Given the description of an element on the screen output the (x, y) to click on. 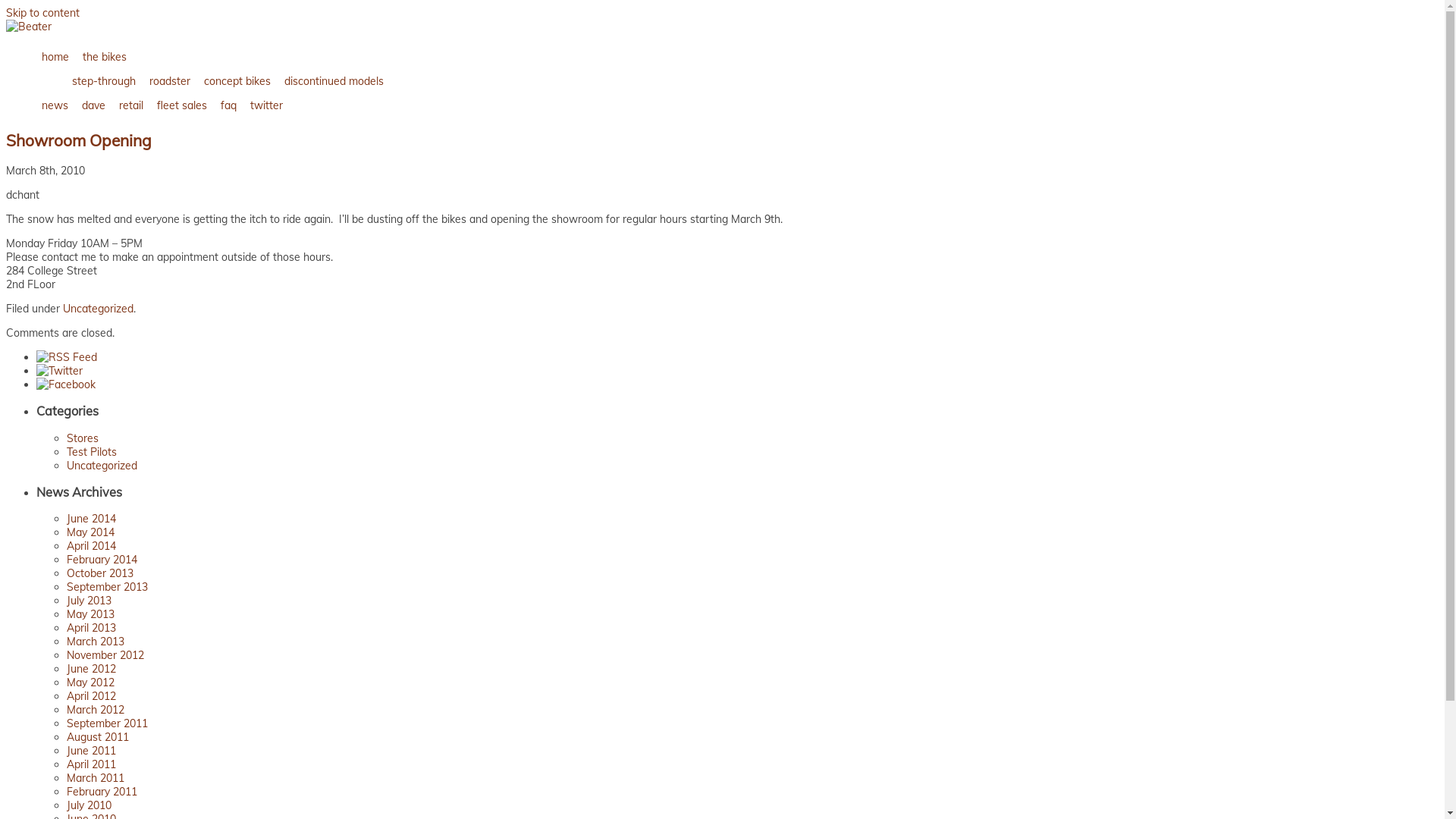
fleet sales Element type: text (181, 105)
news Element type: text (54, 105)
April 2012 Element type: text (91, 695)
Uncategorized Element type: text (97, 308)
September 2013 Element type: text (106, 586)
April 2013 Element type: text (91, 627)
roadster Element type: text (169, 81)
July 2013 Element type: text (88, 600)
retail Element type: text (130, 105)
faq Element type: text (228, 105)
June 2014 Element type: text (91, 518)
March 2013 Element type: text (95, 641)
June 2011 Element type: text (91, 750)
June 2012 Element type: text (91, 668)
concept bikes Element type: text (237, 81)
Uncategorized Element type: text (101, 465)
Showroom Opening Element type: text (78, 140)
August 2011 Element type: text (97, 736)
Stores Element type: text (82, 438)
Skip to content Element type: text (42, 12)
May 2014 Element type: text (90, 532)
May 2013 Element type: text (90, 614)
November 2012 Element type: text (105, 655)
July 2010 Element type: text (88, 805)
February 2014 Element type: text (101, 559)
the bikes Element type: text (104, 56)
October 2013 Element type: text (99, 573)
twitter Element type: text (266, 105)
Test Pilots Element type: text (91, 451)
March 2012 Element type: text (95, 709)
September 2011 Element type: text (106, 723)
March 2011 Element type: text (95, 777)
February 2011 Element type: text (101, 791)
May 2012 Element type: text (90, 682)
home Element type: text (55, 56)
step-through Element type: text (103, 81)
April 2011 Element type: text (91, 764)
dave Element type: text (93, 105)
discontinued models Element type: text (334, 81)
April 2014 Element type: text (91, 545)
